Given the description of an element on the screen output the (x, y) to click on. 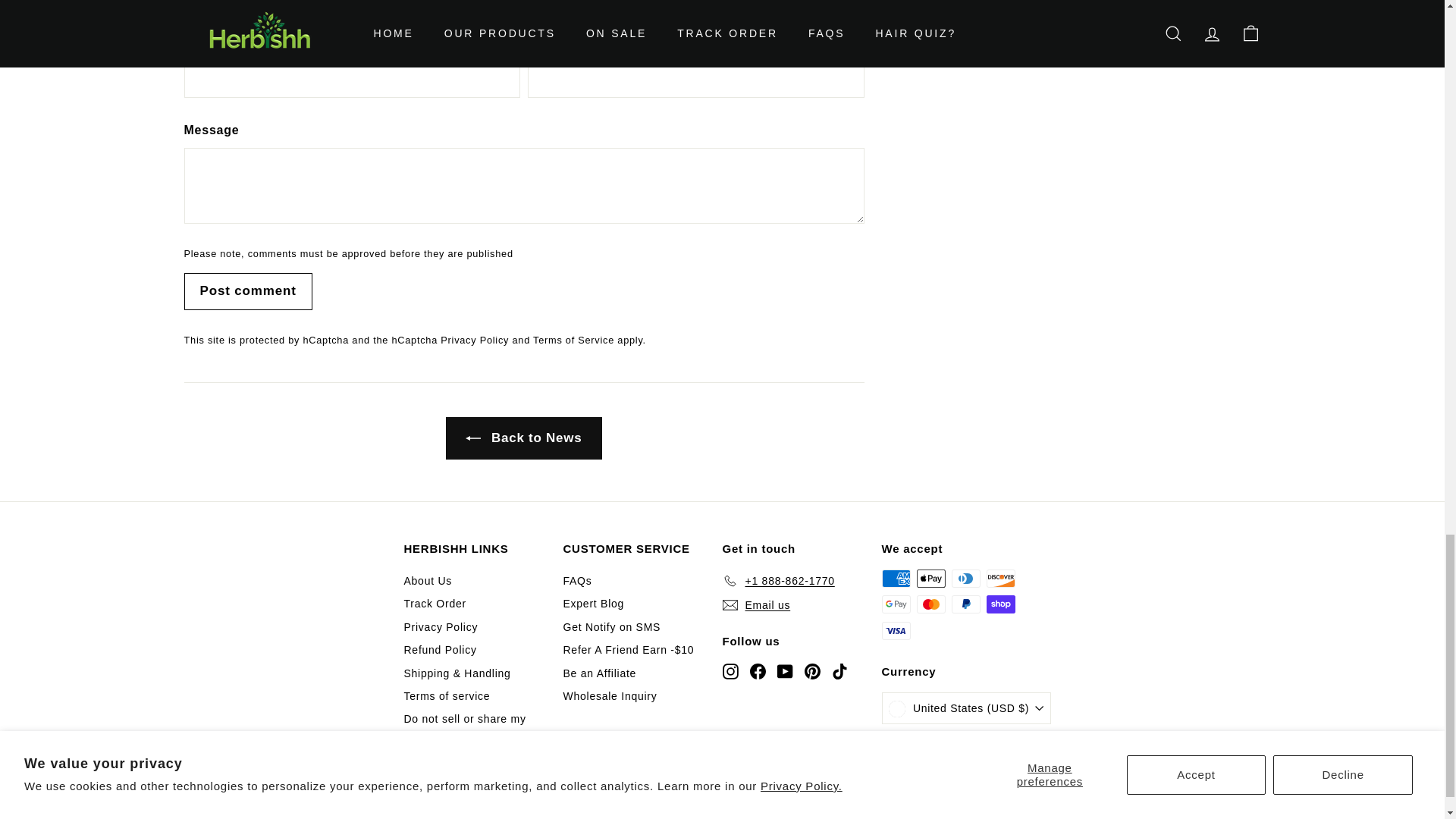
PayPal (964, 604)
herbishh.com   on YouTube (784, 670)
herbishh.com   on Facebook (757, 670)
herbishh.com   on Pinterest (811, 670)
Google Pay (895, 604)
Diners Club (964, 578)
American Express (895, 578)
Mastercard (929, 604)
Apple Pay (929, 578)
Discover (999, 578)
